Given the description of an element on the screen output the (x, y) to click on. 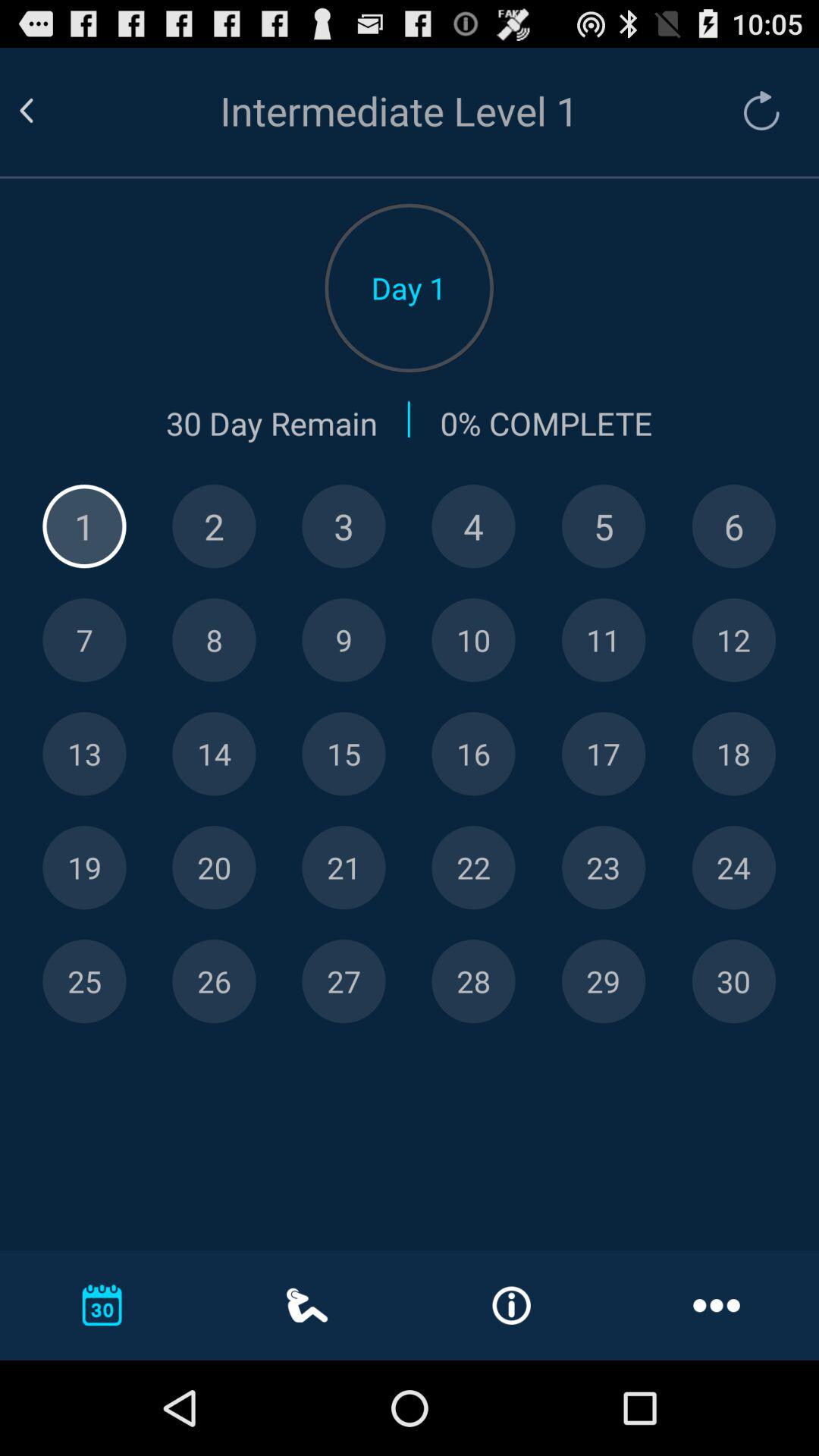
jump to day 10 (473, 639)
